Given the description of an element on the screen output the (x, y) to click on. 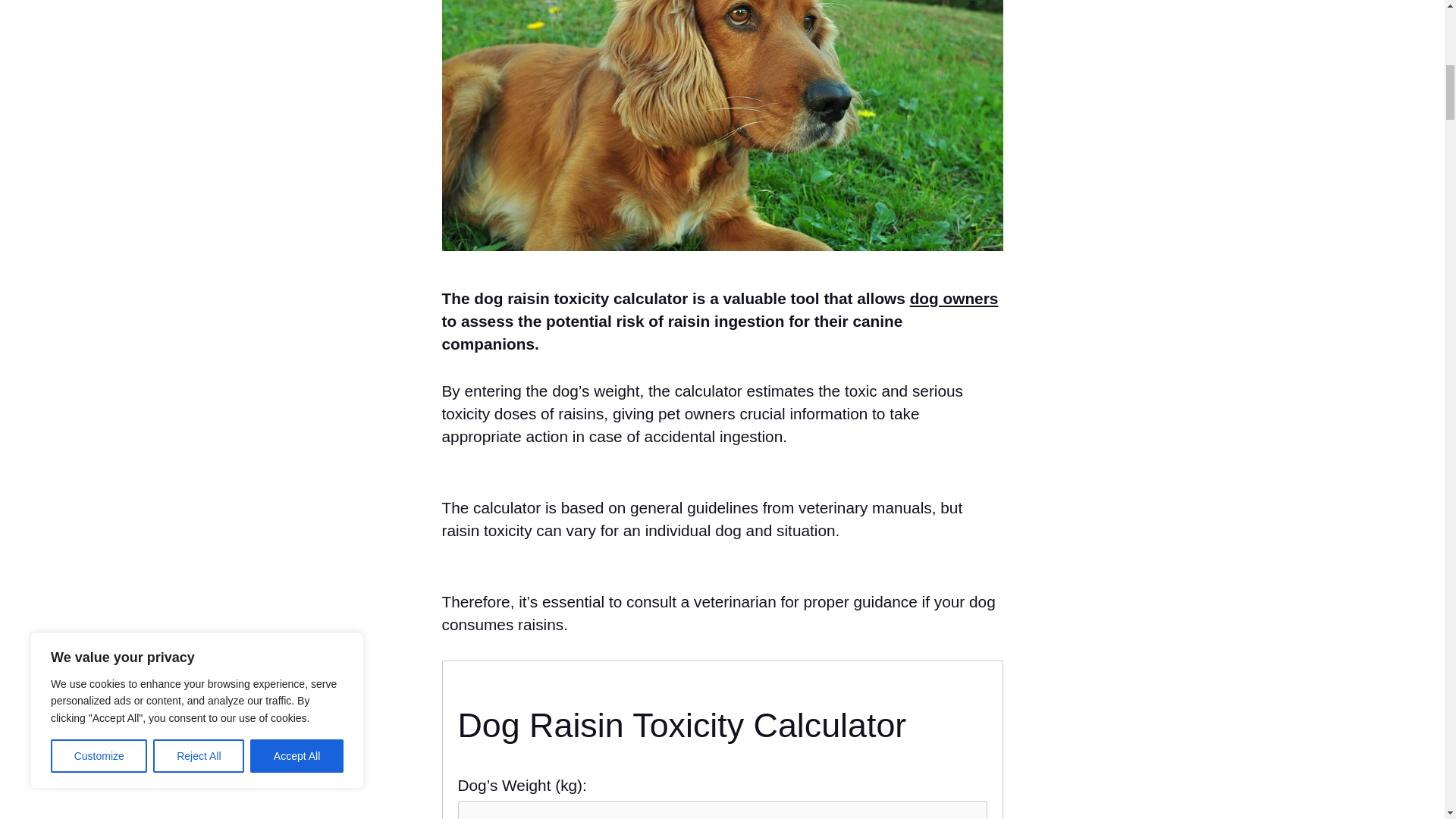
dog owners (954, 298)
